Given the description of an element on the screen output the (x, y) to click on. 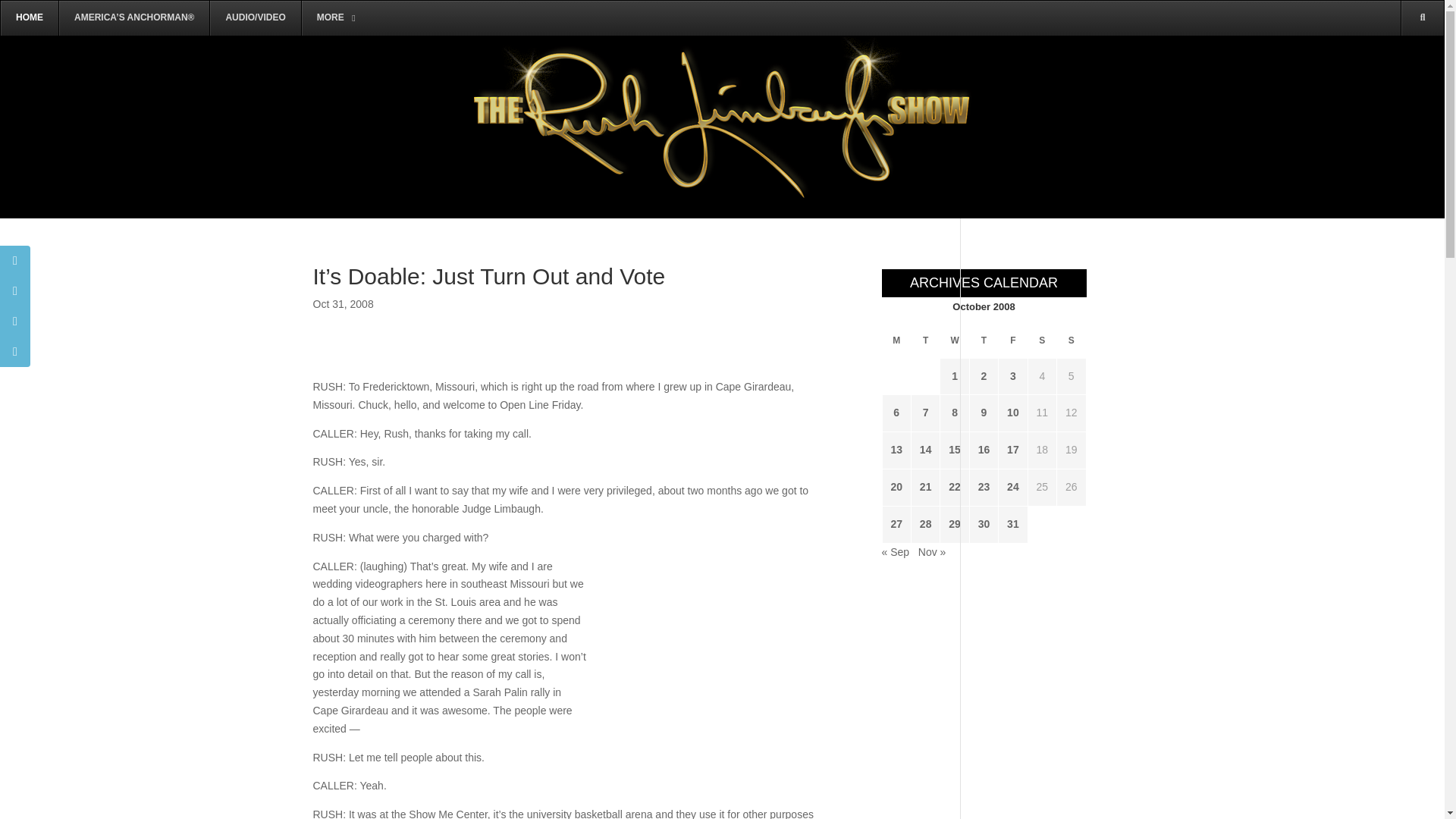
Search (1400, 87)
HOME (29, 18)
